Given the description of an element on the screen output the (x, y) to click on. 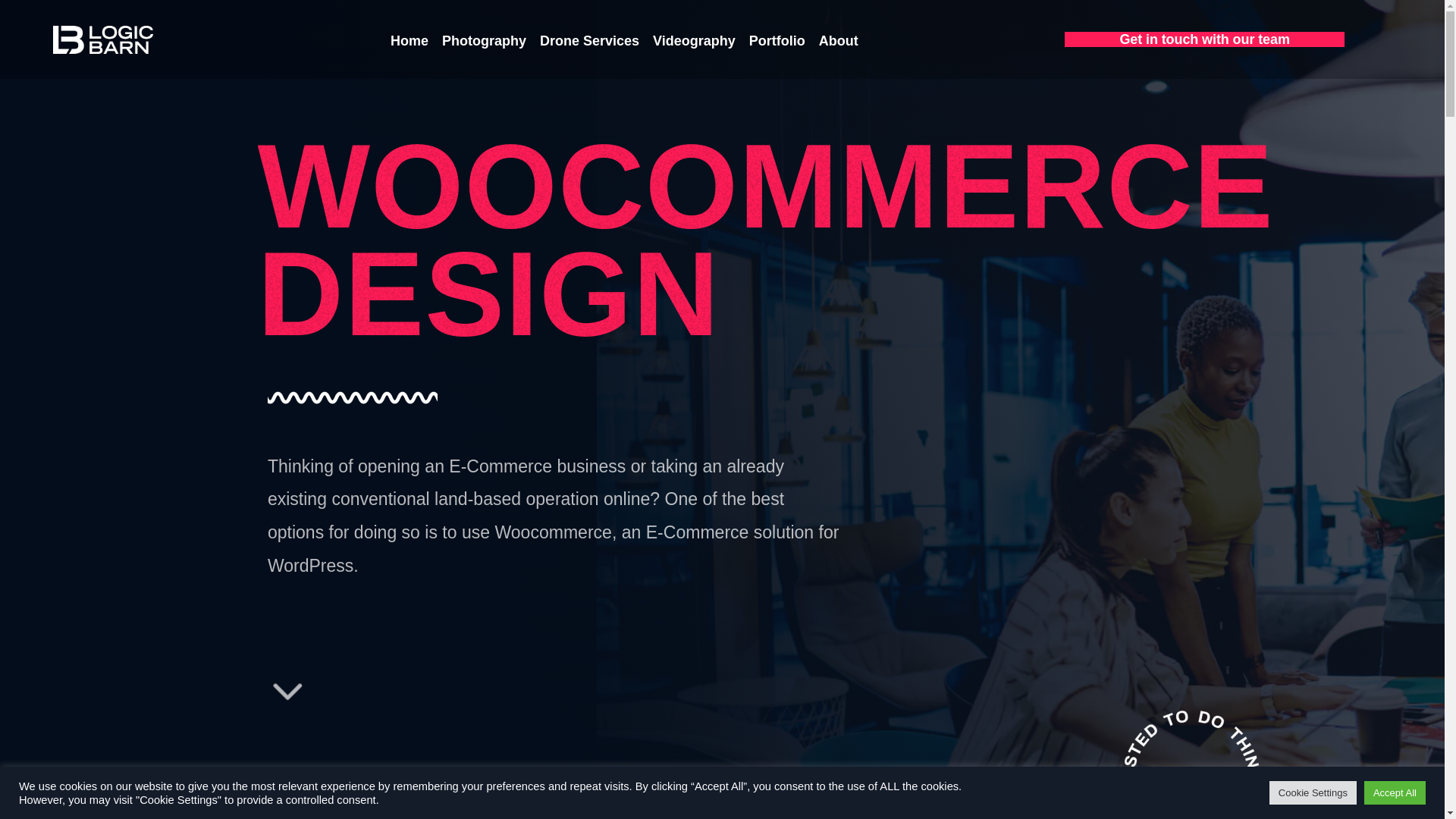
WooCommerce E-Commerce Design 3 (1164, 749)
About (838, 40)
Videography (694, 40)
Home (409, 40)
Accept All (1394, 792)
Drone Services (589, 40)
WooCommerce E-Commerce Design 2 (323, 397)
Cookie Settings (1312, 792)
Photography (483, 40)
Portfolio (777, 40)
